Given the description of an element on the screen output the (x, y) to click on. 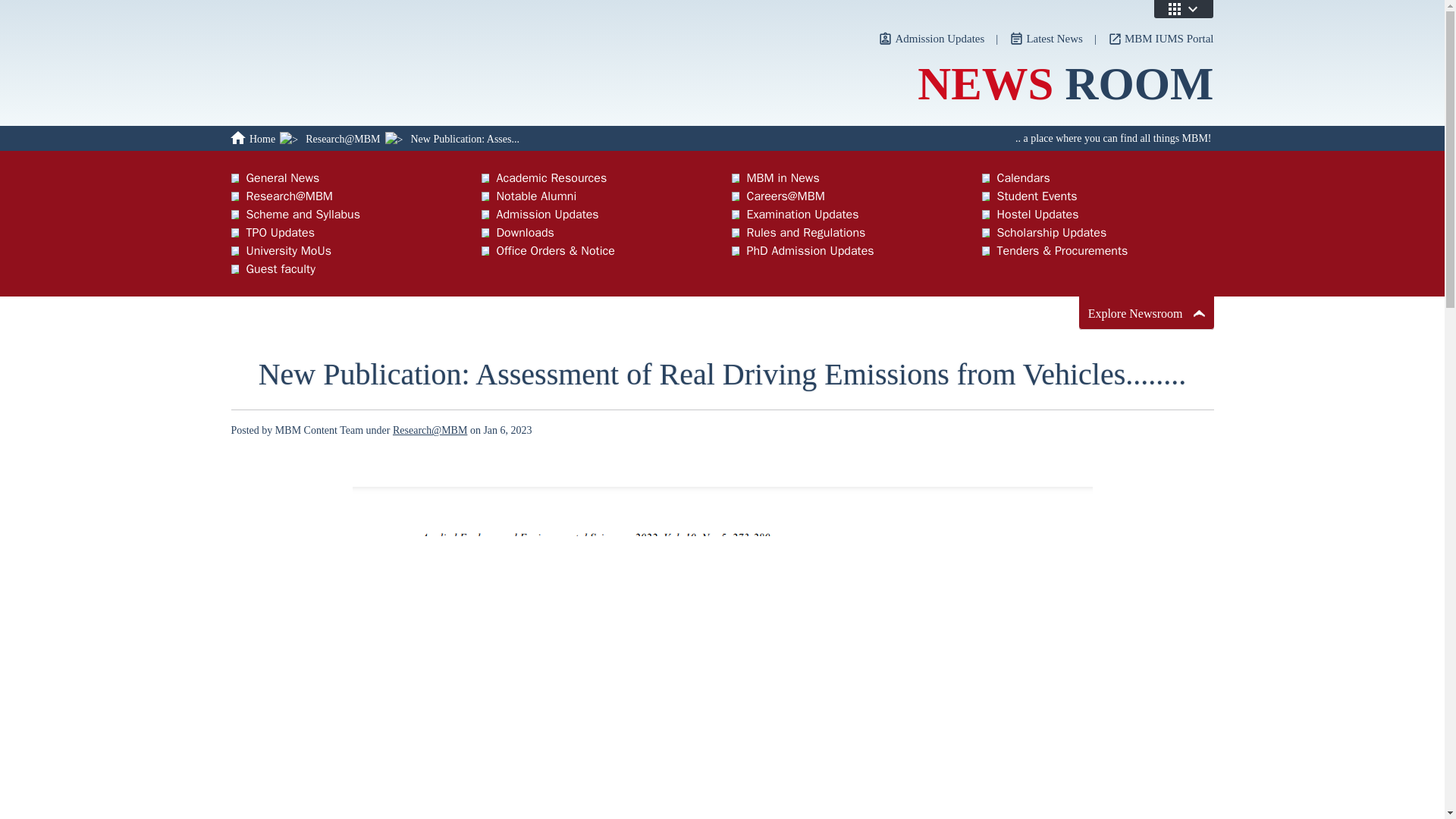
Examination Updates (846, 214)
Student Events (1096, 196)
Latest News (1046, 38)
Calendars (1096, 177)
University MoUs (346, 250)
Home (251, 139)
Downloads (596, 232)
Scholarship Updates (1096, 232)
MBM IUMS Portal (1161, 38)
Explore Newsroom   (1146, 313)
